Given the description of an element on the screen output the (x, y) to click on. 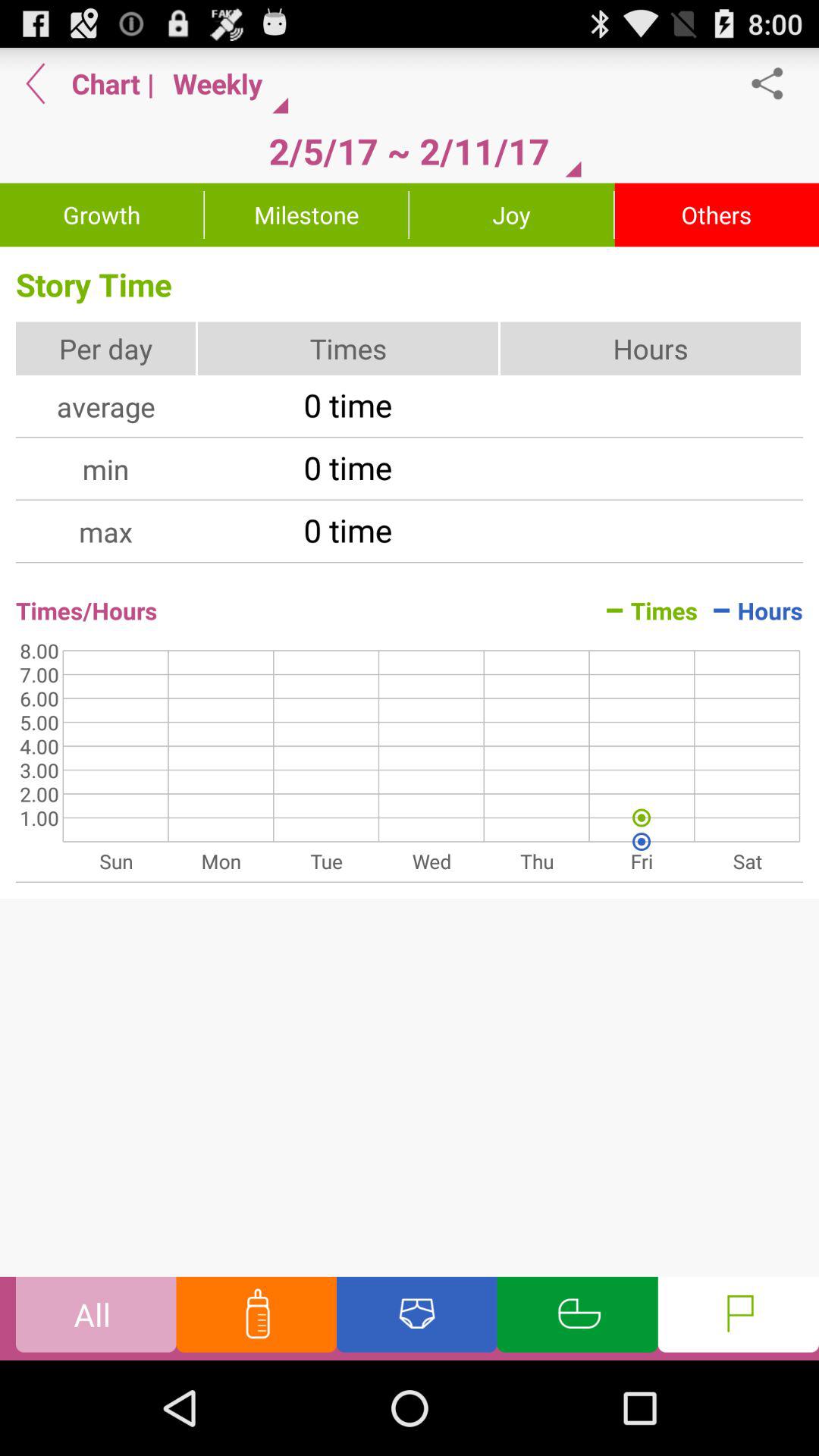
share the weekly chart (775, 83)
